Given the description of an element on the screen output the (x, y) to click on. 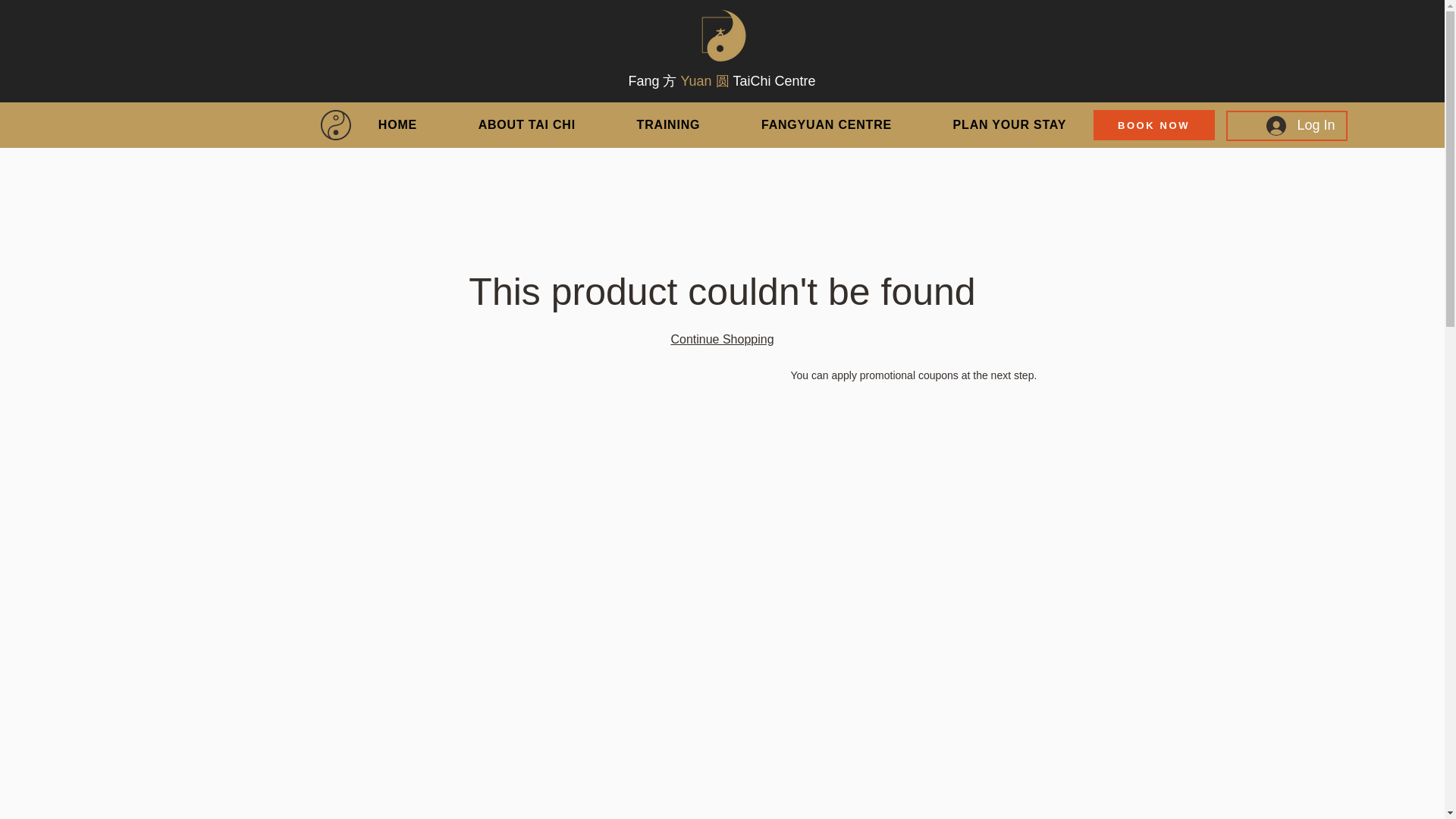
Log In (1300, 125)
HOME (397, 124)
TRAINING (667, 124)
FANGYUAN CENTRE (826, 124)
Continue Shopping (721, 338)
ABOUT TAI CHI (525, 124)
PLAN YOUR STAY (1008, 124)
BOOK NOW (1153, 124)
